Given the description of an element on the screen output the (x, y) to click on. 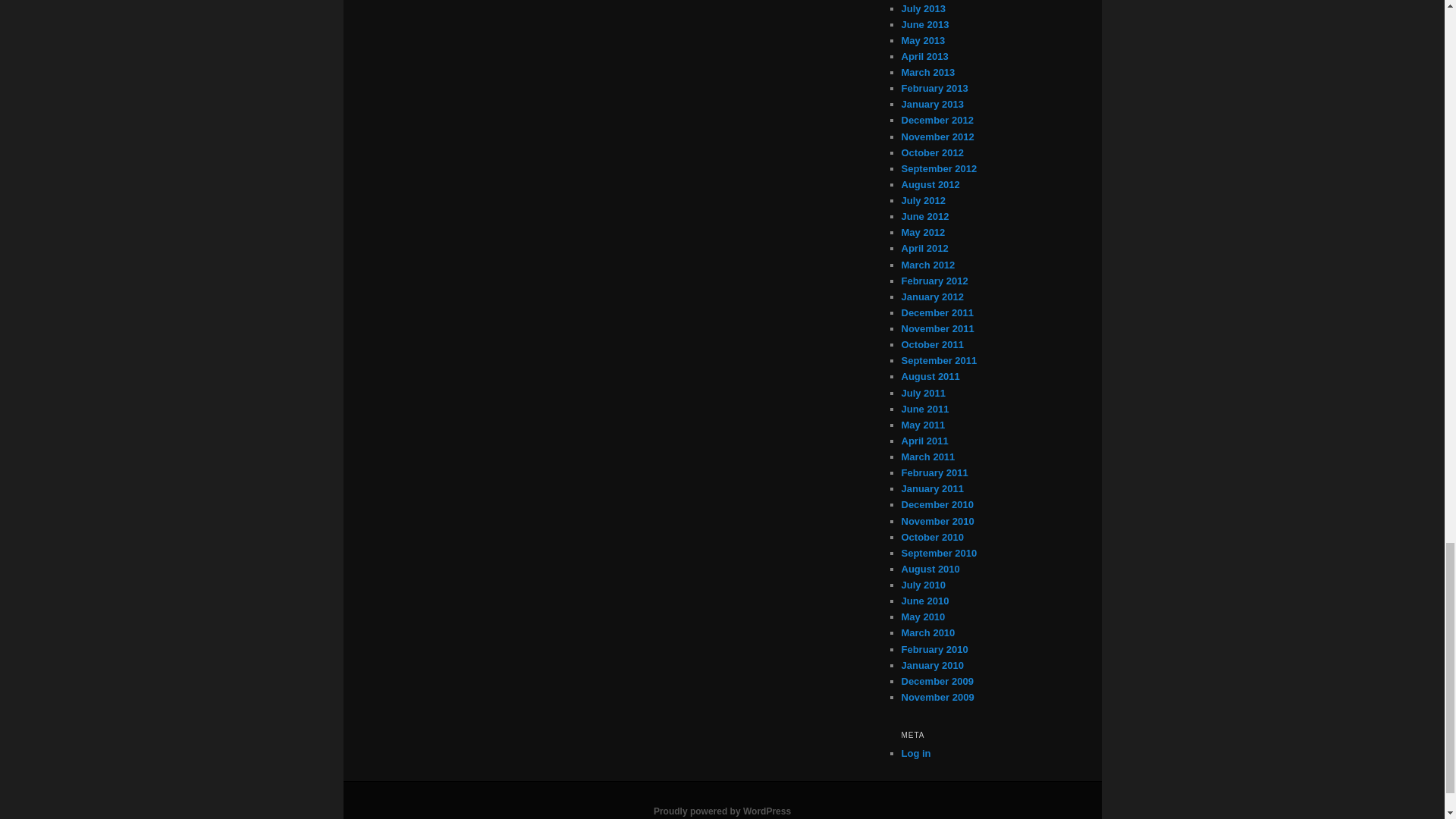
Semantic Personal Publishing Platform (721, 810)
